Given the description of an element on the screen output the (x, y) to click on. 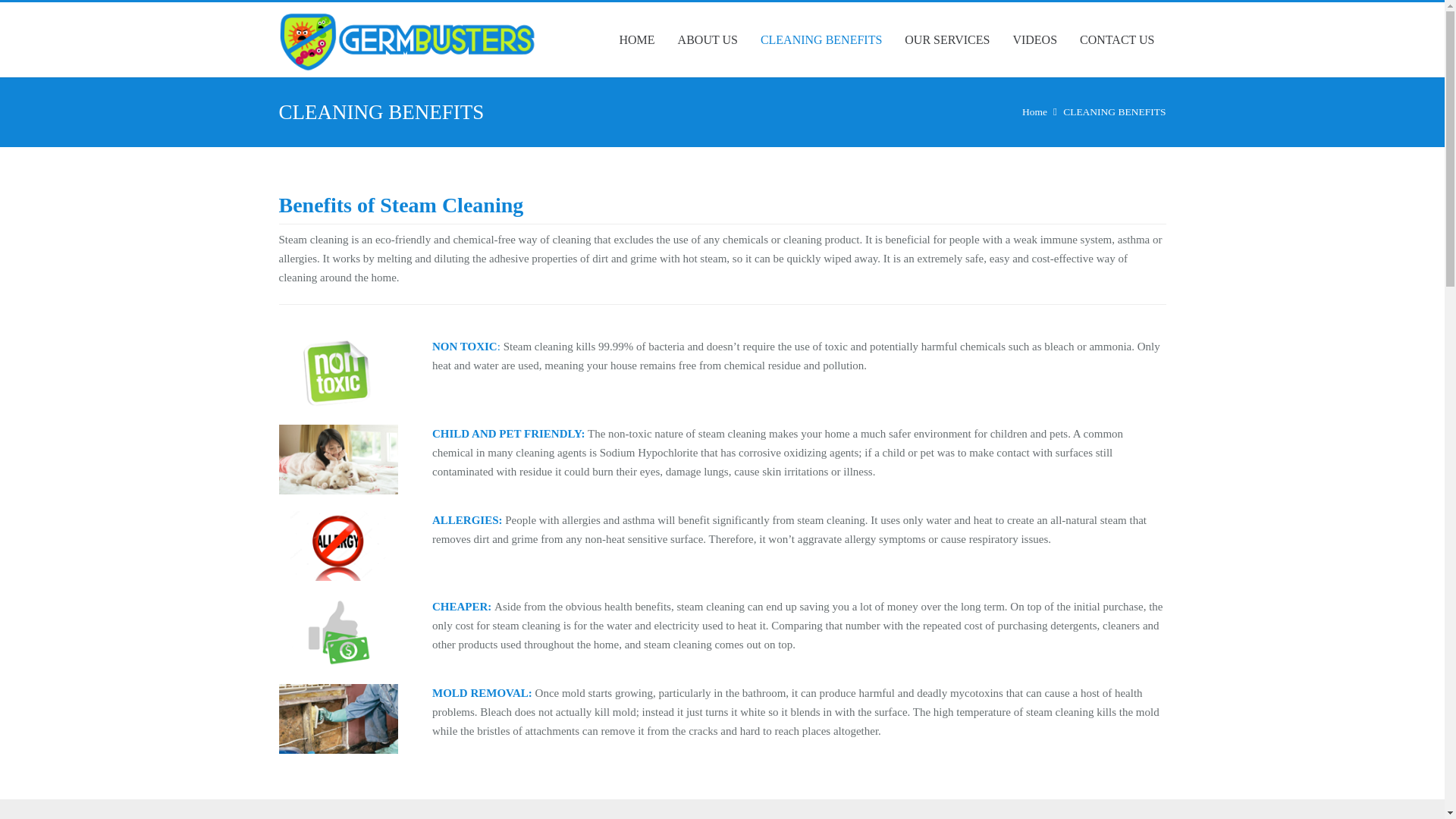
CONTACT US (1117, 39)
CLEANING BENEFITS (1114, 111)
CLEANING BENEFITS (821, 39)
Home (1034, 111)
OUR SERVICES (947, 39)
VIDEOS (1034, 39)
ABOUT US (707, 39)
HOME (636, 39)
